Given the description of an element on the screen output the (x, y) to click on. 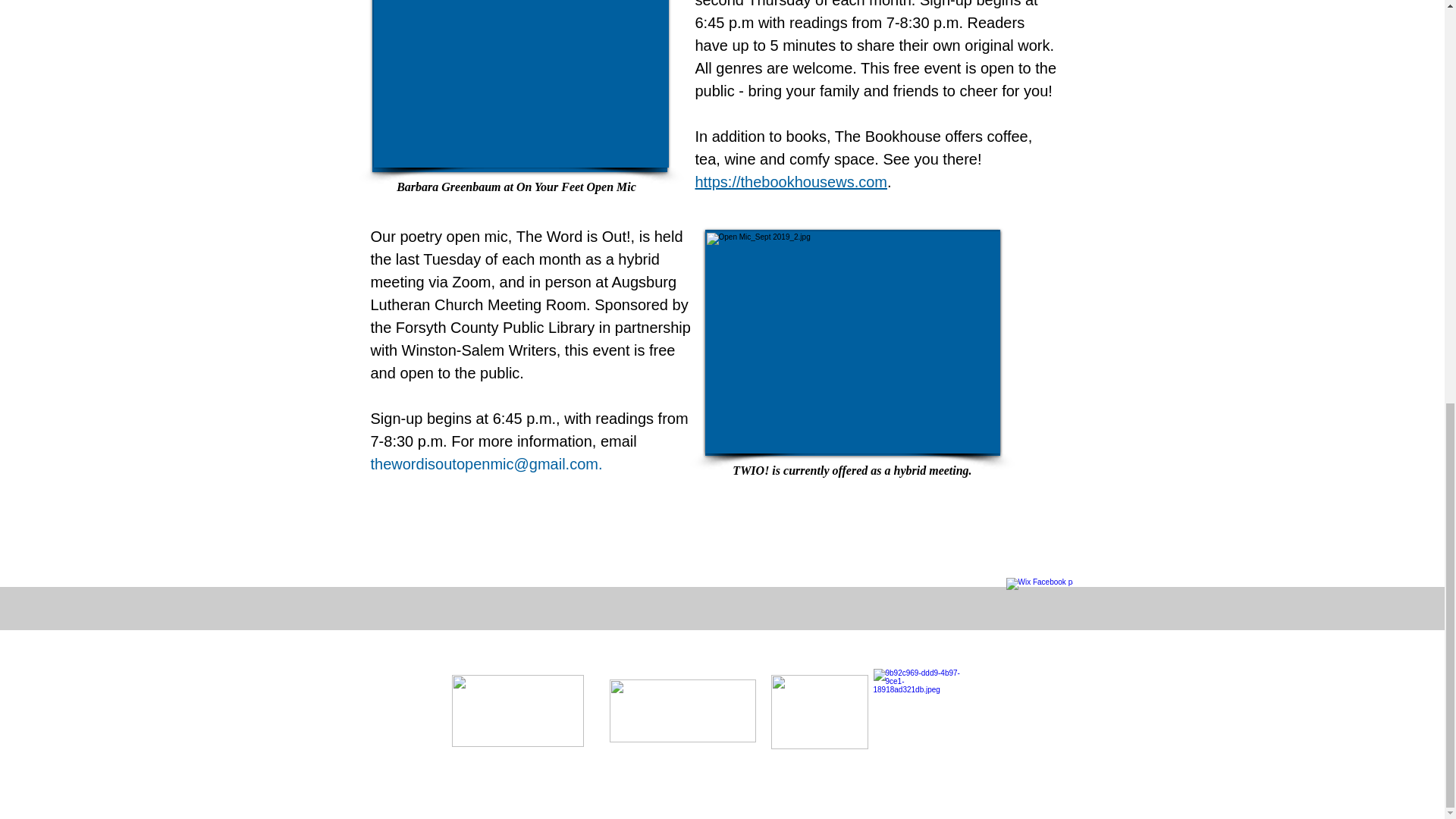
wswfriends-ncwritersnetwork.png (517, 710)
wswfriends-press53.png (818, 711)
wswfriends-press53.png (920, 715)
